Given the description of an element on the screen output the (x, y) to click on. 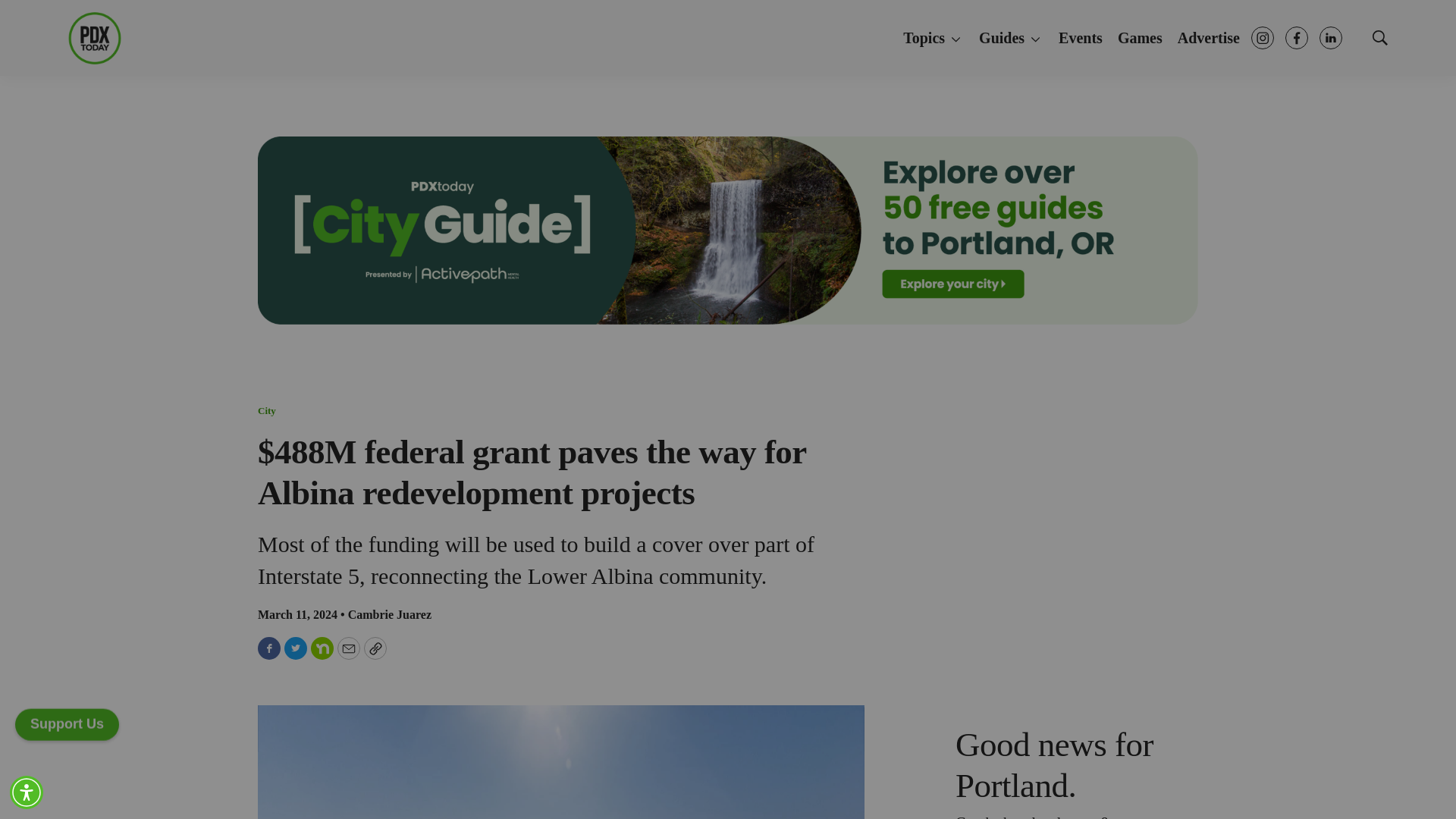
Accessibility Menu (26, 792)
Guides (1010, 39)
Add (66, 723)
Close (990, 217)
